Given the description of an element on the screen output the (x, y) to click on. 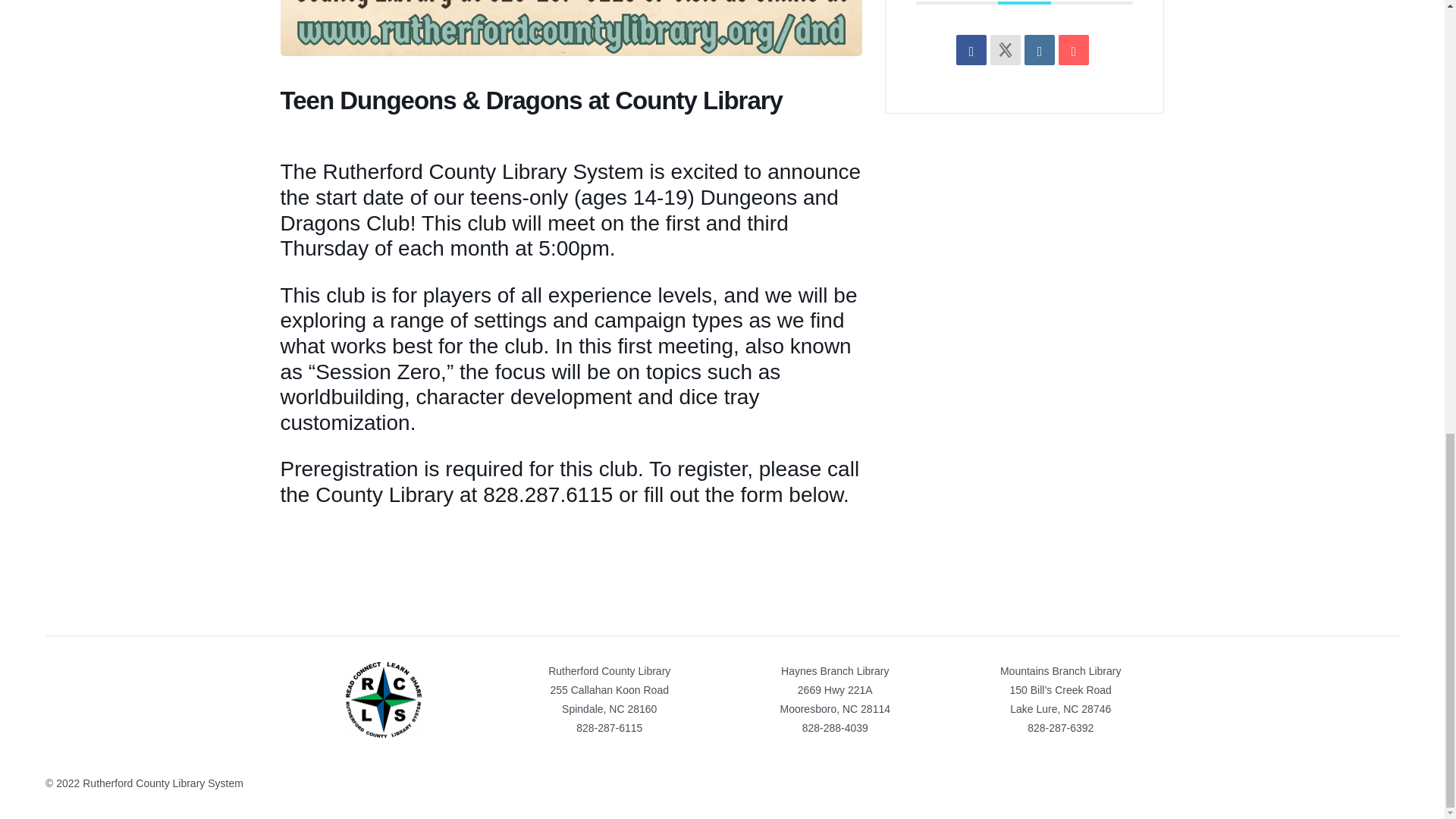
Linkedin (1039, 50)
X Social Network (1005, 50)
Email (1073, 50)
Share on Facebook (971, 50)
